Given the description of an element on the screen output the (x, y) to click on. 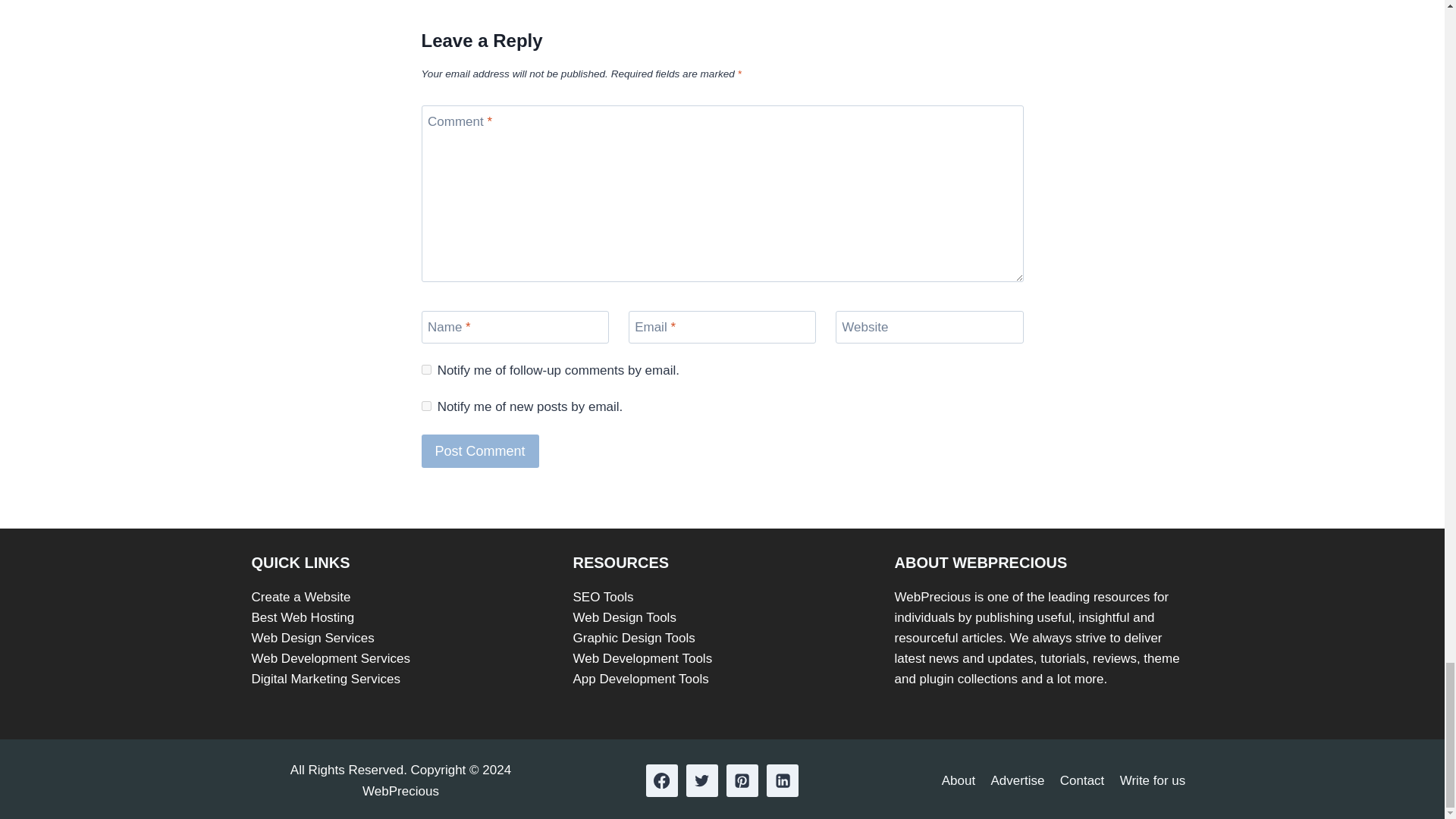
subscribe (426, 406)
subscribe (426, 369)
Post Comment (480, 450)
